Given the description of an element on the screen output the (x, y) to click on. 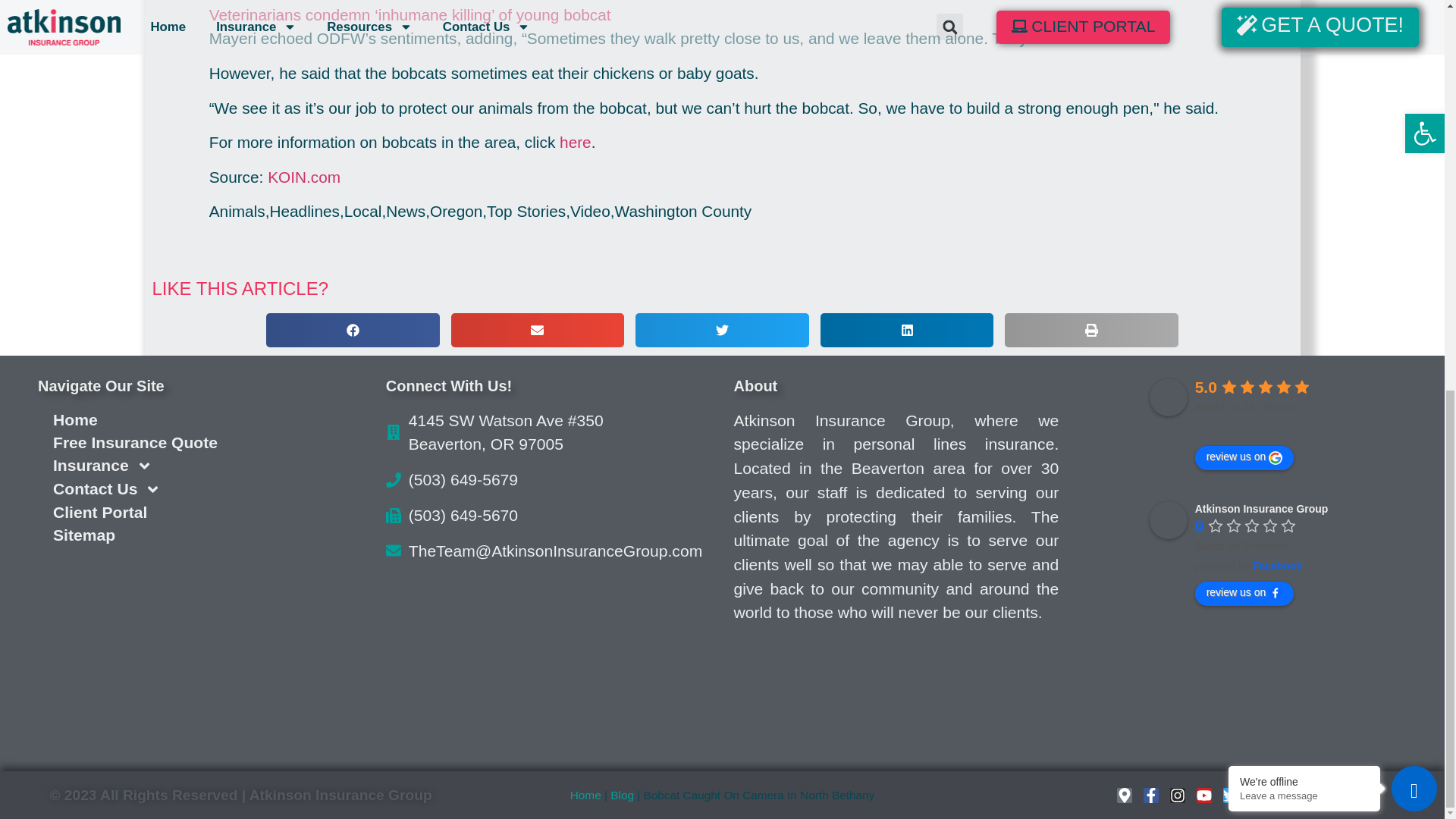
powered by Google (1249, 426)
We're offline (1304, 37)
Leave a message (1304, 50)
Atkinson Insurance Group (1169, 519)
Atkinson Insurance Group (1169, 397)
